Given the description of an element on the screen output the (x, y) to click on. 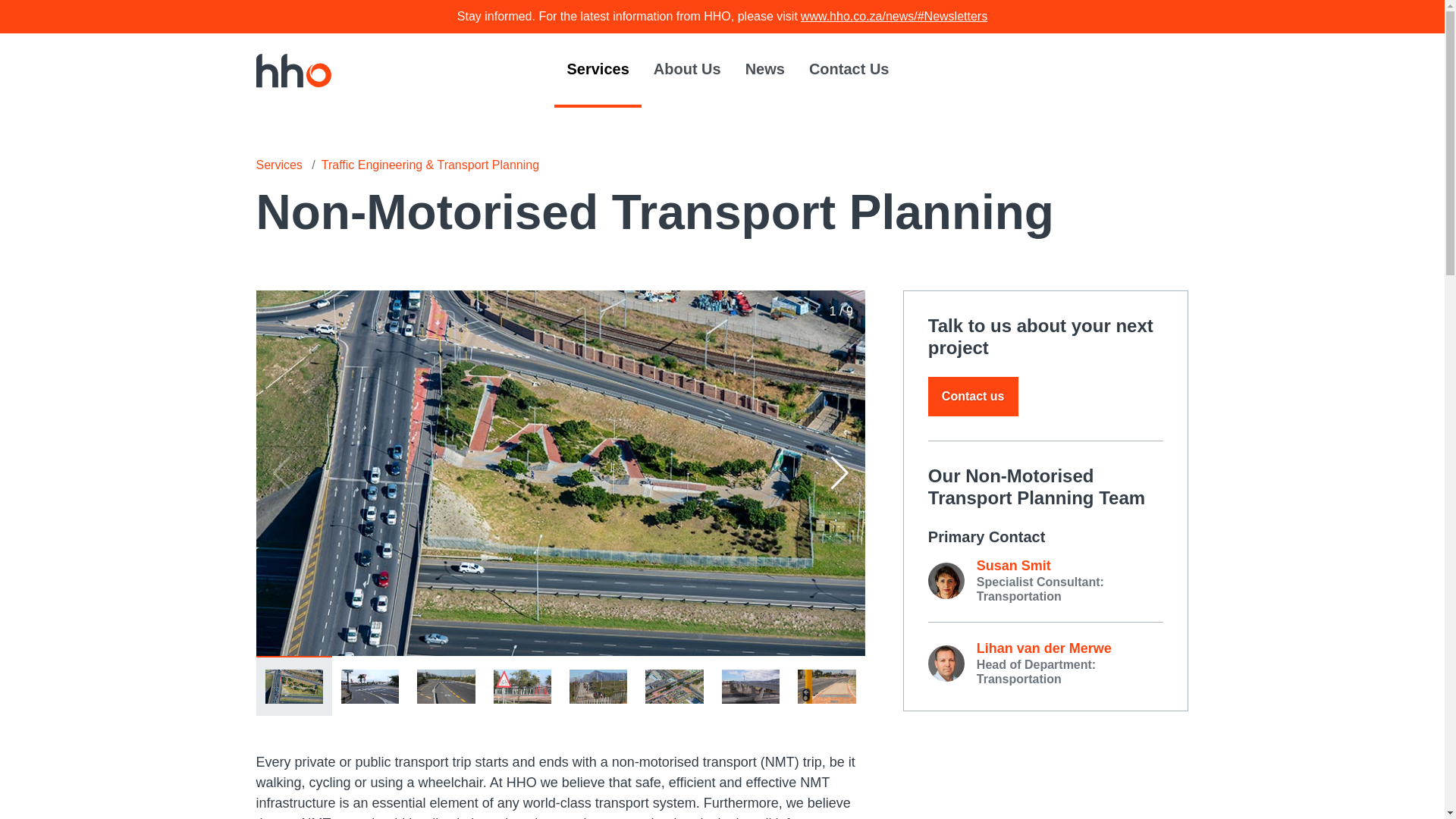
Contact Us (848, 70)
Services (279, 165)
News (764, 70)
About Us (687, 70)
Contact us (972, 396)
Services (597, 70)
